Given the description of an element on the screen output the (x, y) to click on. 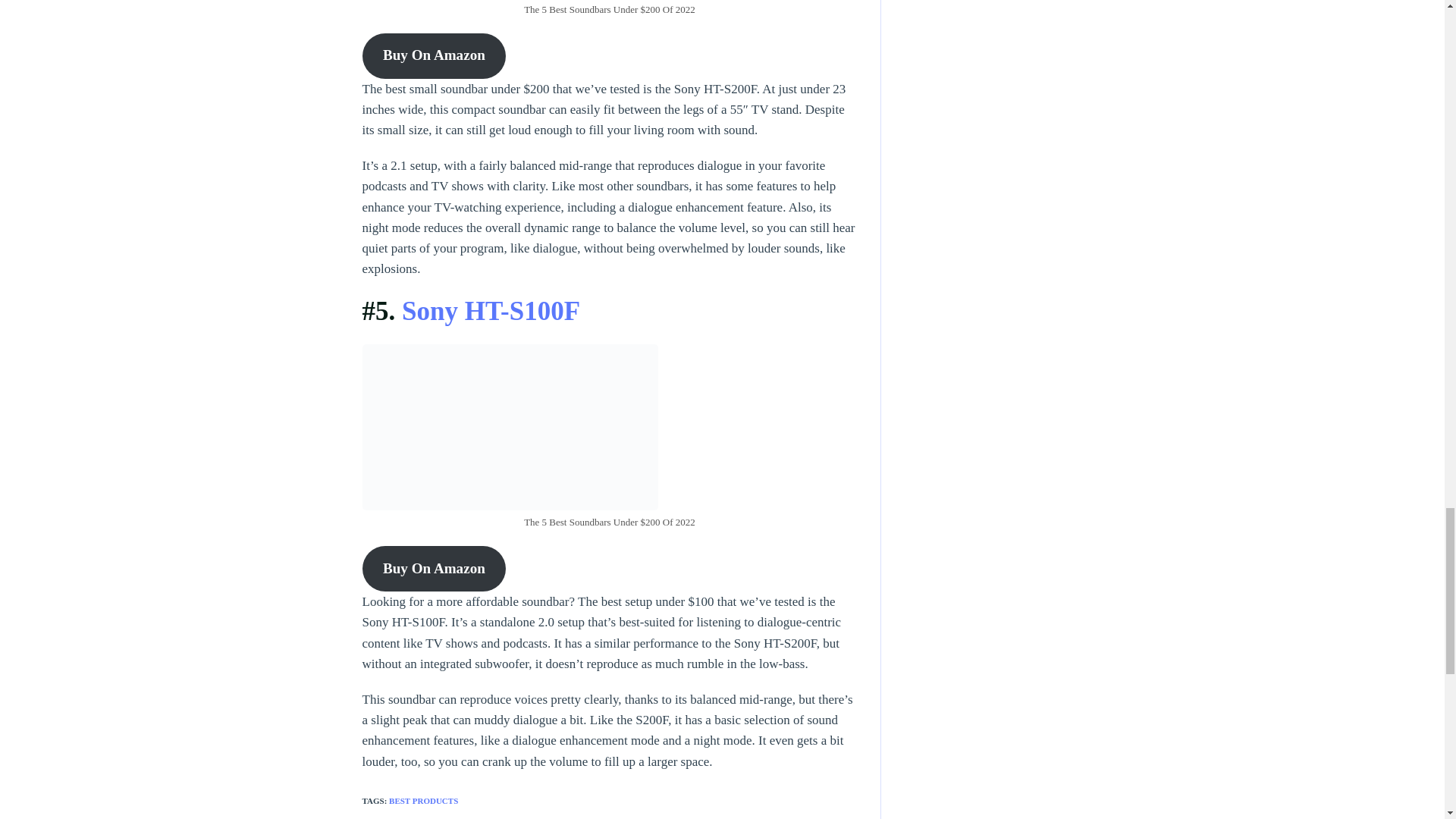
Sony HT-S100F (490, 310)
Buy On Amazon (434, 55)
BEST PRODUCTS (423, 800)
Buy On Amazon (434, 568)
